Given the description of an element on the screen output the (x, y) to click on. 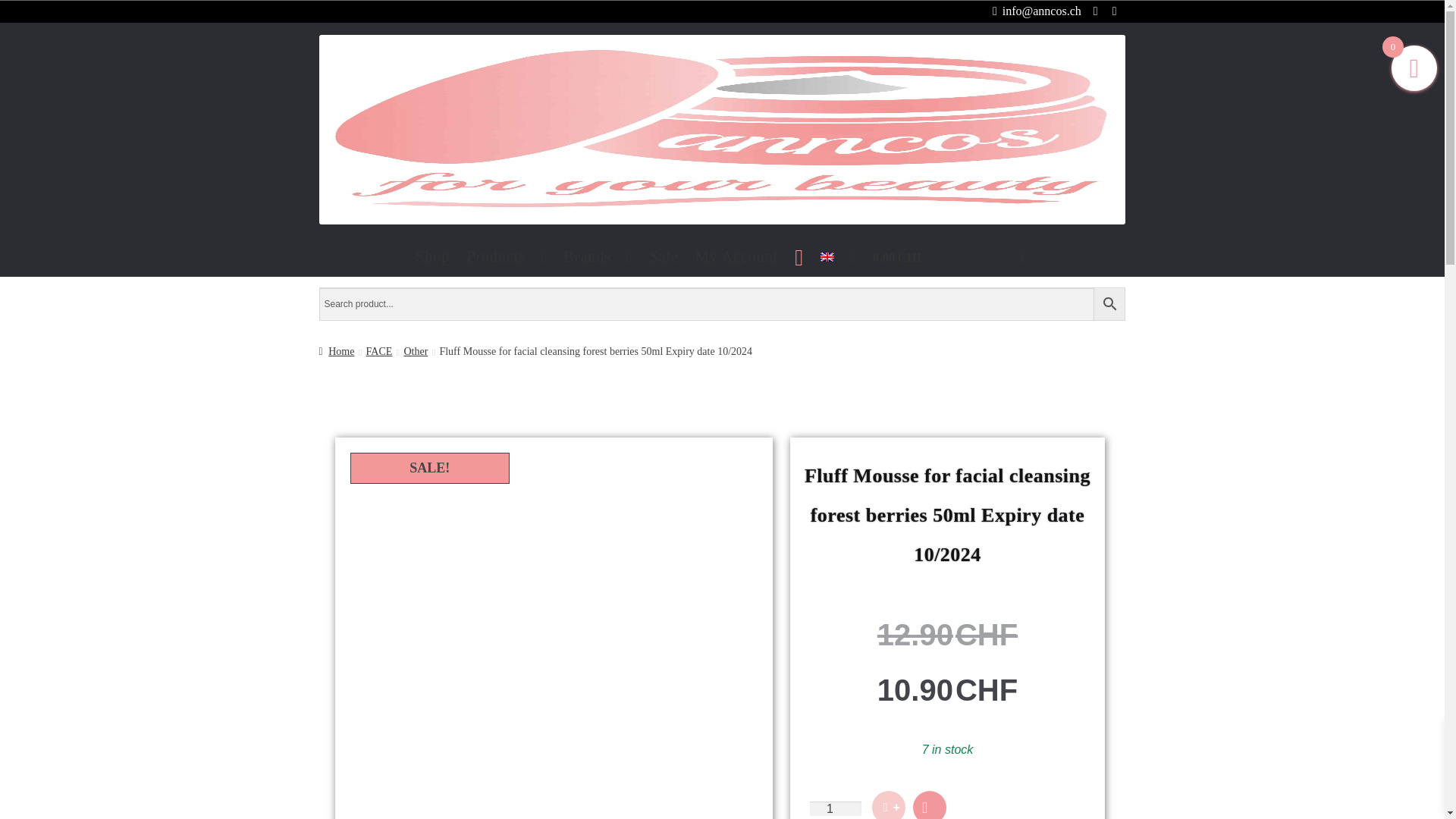
Products (507, 255)
Shop (432, 255)
1 (835, 808)
View your shopping cart (948, 255)
